Given the description of an element on the screen output the (x, y) to click on. 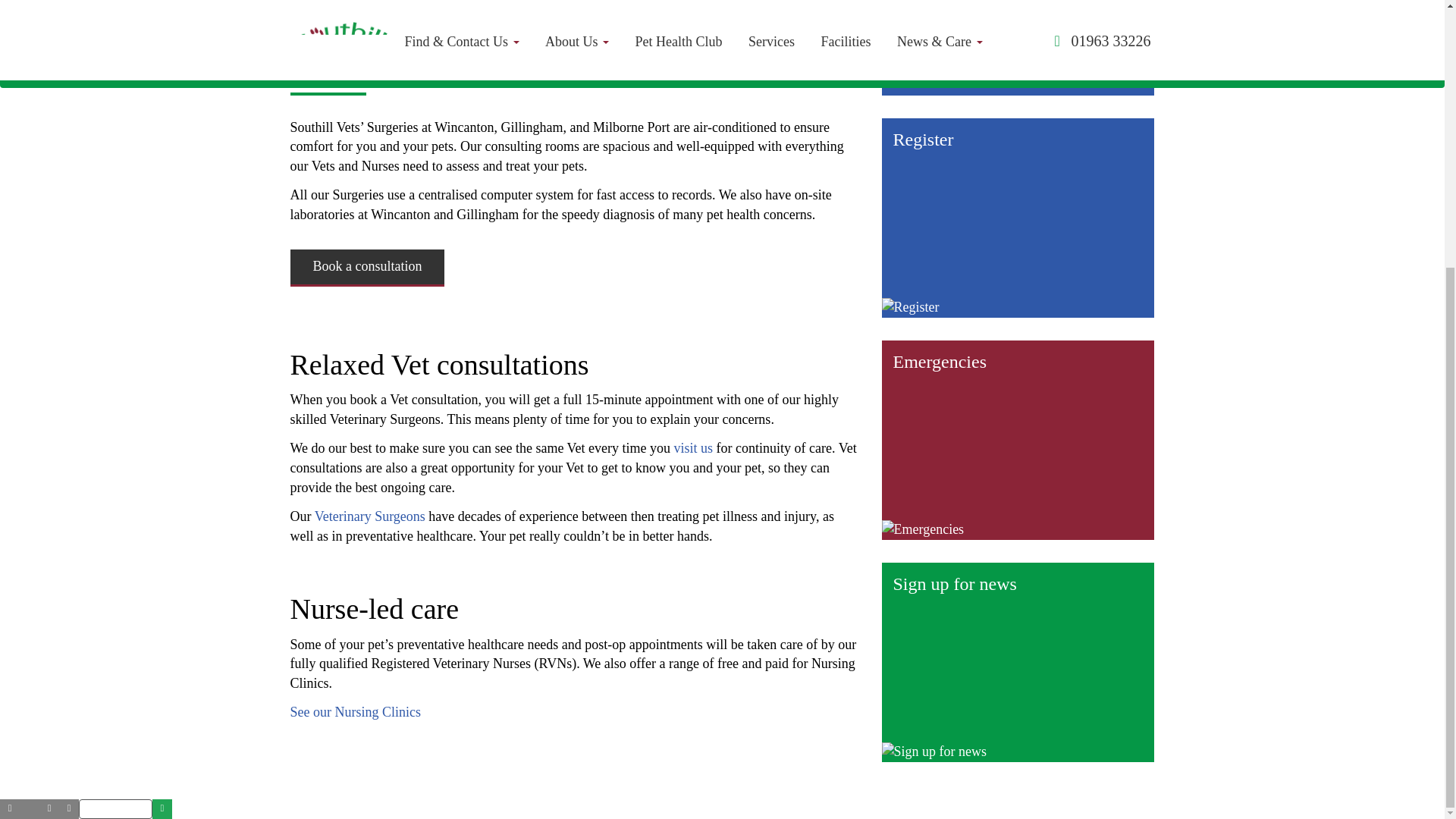
Operating Theatres (969, 9)
See our Nursing Clinics (354, 711)
Veterinary Surgeons (369, 516)
Ultrasound (944, 67)
visit us (693, 447)
Book a consultation (366, 267)
Patient Wards (953, 38)
